Given the description of an element on the screen output the (x, y) to click on. 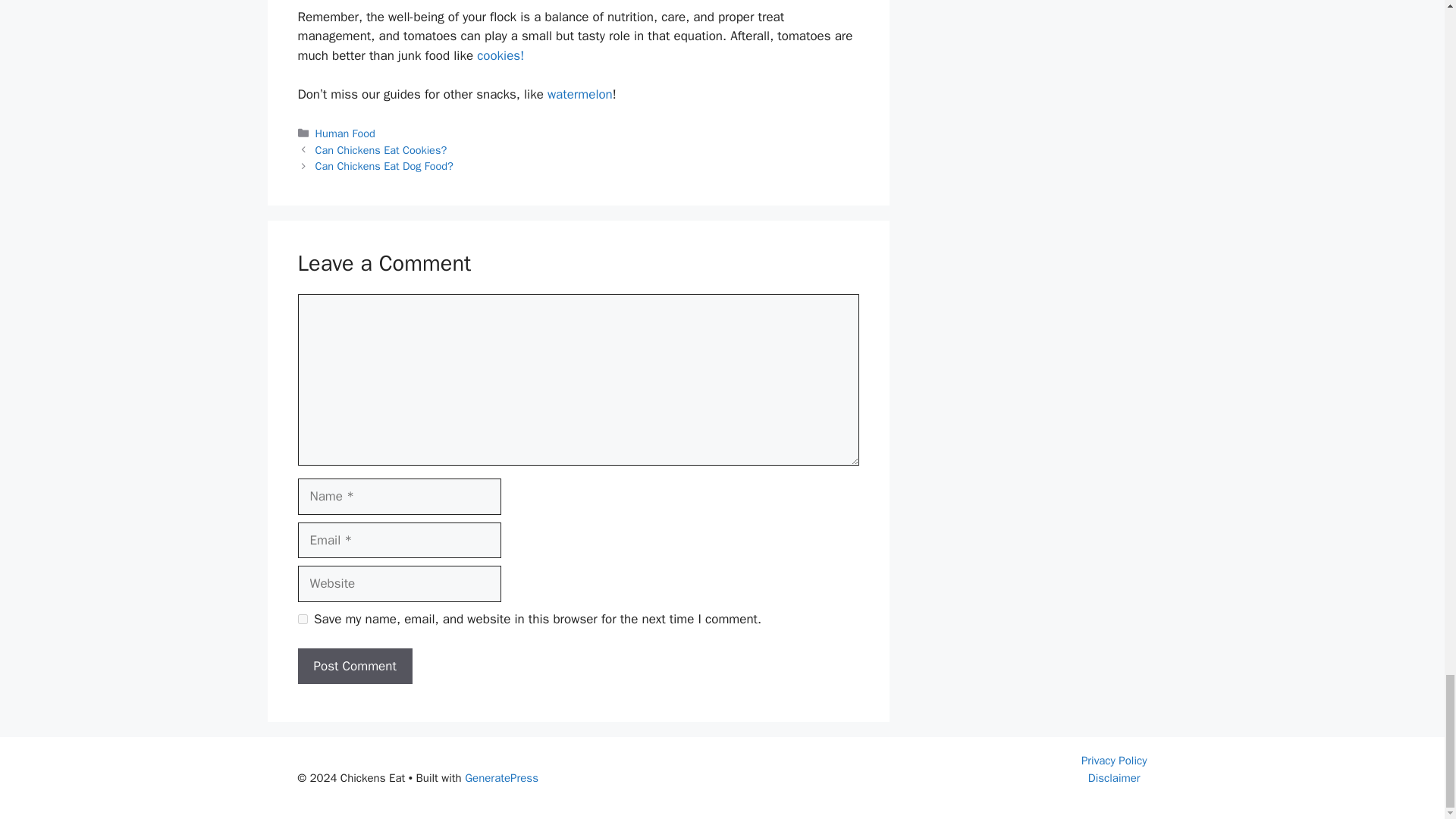
GeneratePress (501, 777)
watermelon (579, 94)
yes (302, 619)
Human Food (345, 133)
Post Comment (354, 666)
Privacy Policy (1114, 760)
Can Chickens Eat Cookies? (380, 150)
Can Chickens Eat Dog Food? (383, 165)
cookies! (500, 55)
Post Comment (354, 666)
